Given the description of an element on the screen output the (x, y) to click on. 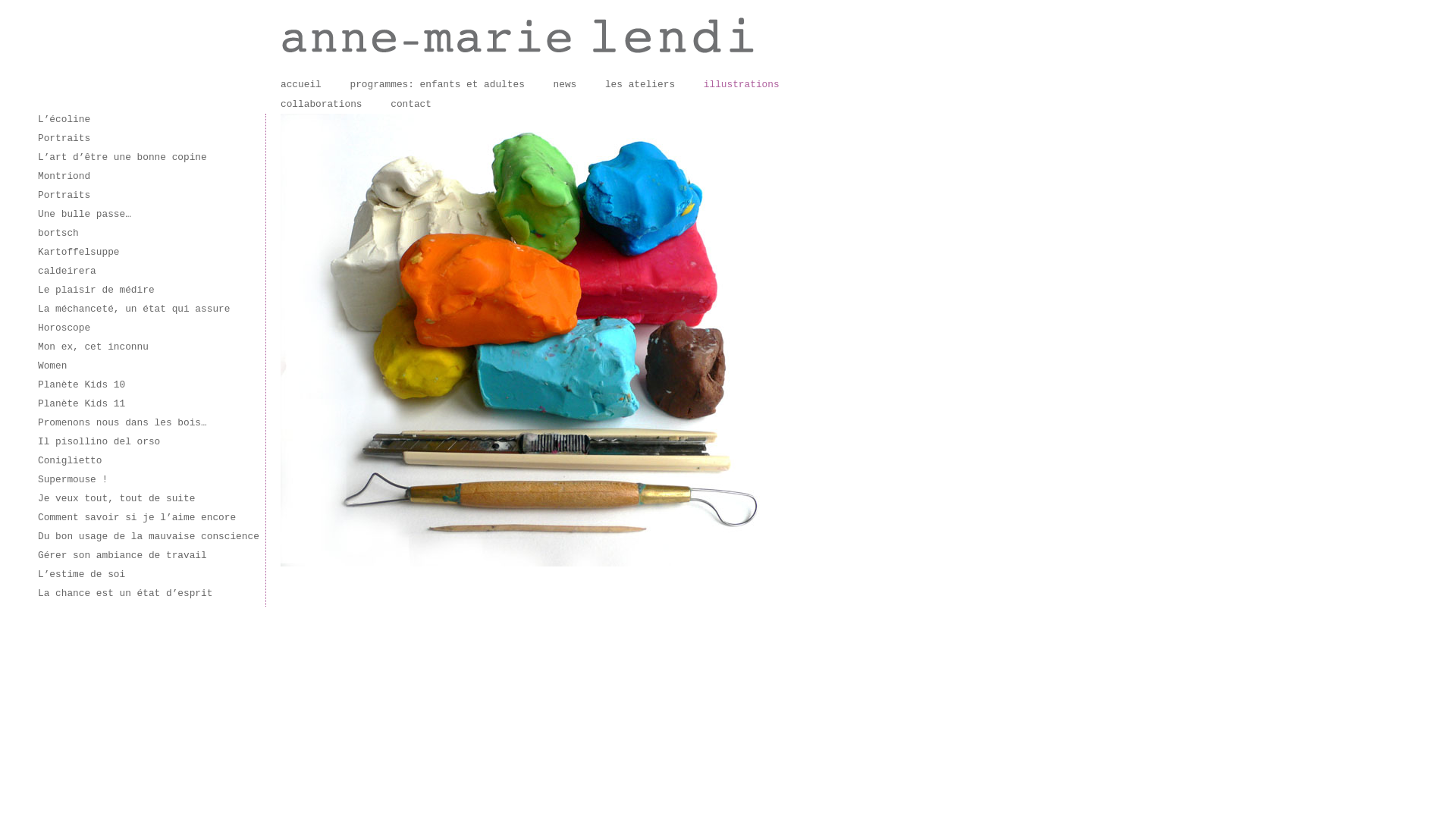
Du bon usage de la mauvaise conscience Element type: text (148, 536)
news Element type: text (565, 84)
accueil Element type: text (300, 84)
Kartoffelsuppe Element type: text (78, 251)
les ateliers Element type: text (639, 84)
Supermouse ! Element type: text (72, 479)
Portraits Element type: text (63, 194)
Coniglietto Element type: text (69, 460)
Mon ex, cet inconnu Element type: text (92, 346)
illustrations Element type: text (741, 84)
contact Element type: text (410, 103)
Horoscope Element type: text (63, 327)
collaborations Element type: text (321, 103)
bortsch Element type: text (57, 232)
Il pisollino del orso Element type: text (98, 441)
Je veux tout, tout de suite Element type: text (115, 498)
Portraits Element type: text (63, 138)
caldeirera Element type: text (66, 270)
illustrations Element type: hover (545, 339)
Women Element type: text (51, 365)
programmes: enfants et adultes Element type: text (436, 84)
Montriond Element type: text (63, 176)
